Given the description of an element on the screen output the (x, y) to click on. 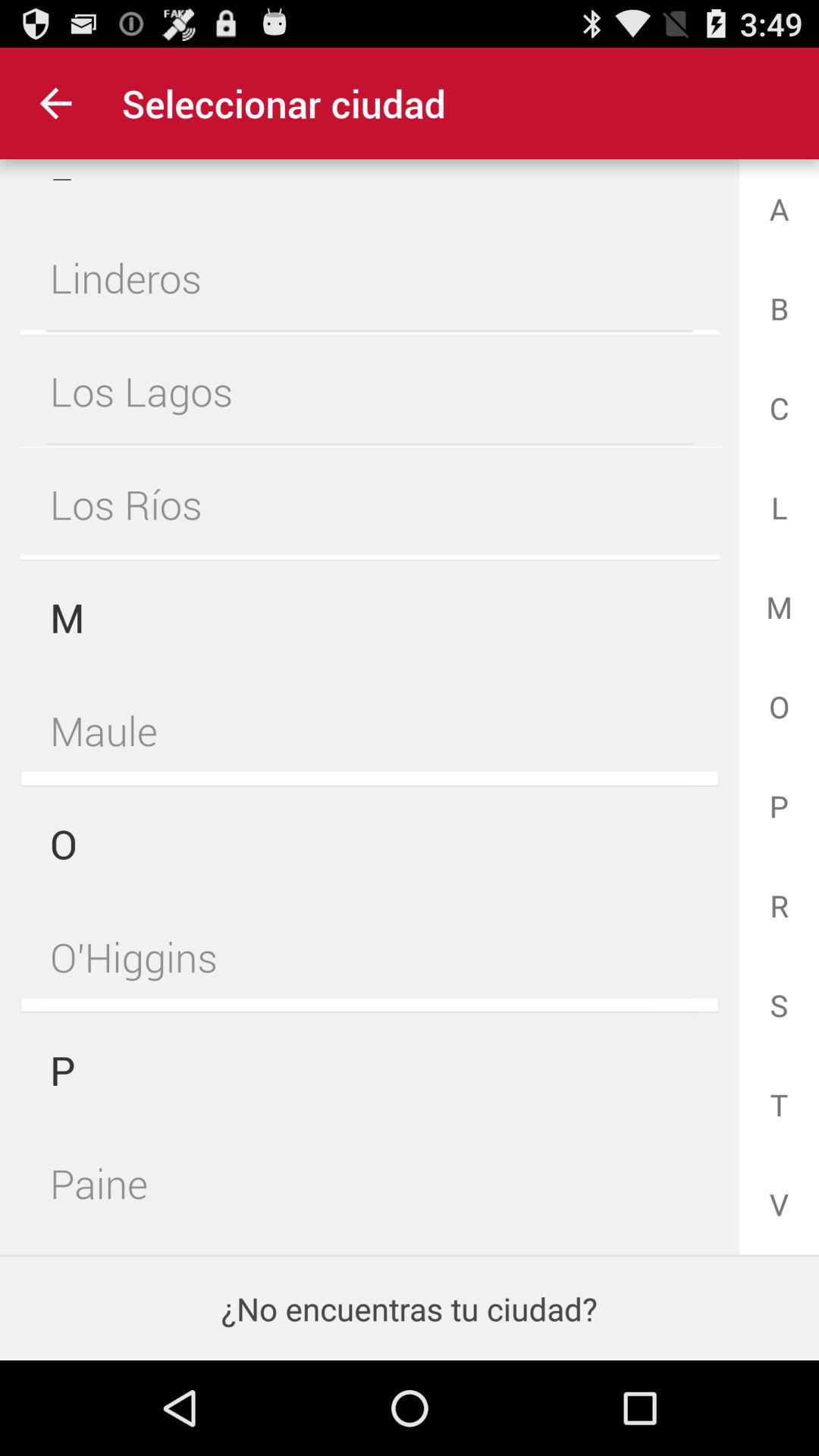
press linderos (369, 277)
